Given the description of an element on the screen output the (x, y) to click on. 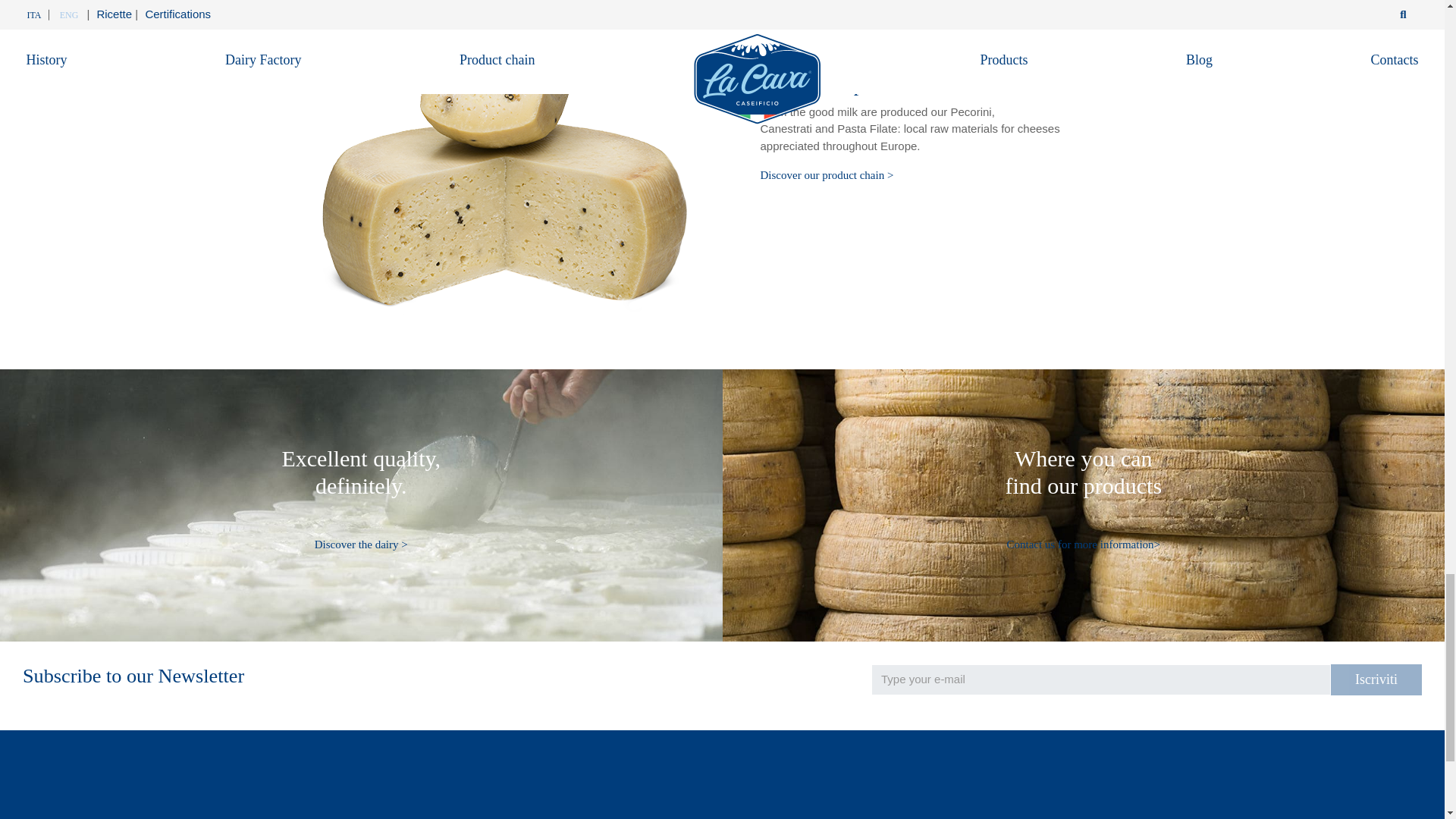
Iscriviti (1376, 679)
